Given the description of an element on the screen output the (x, y) to click on. 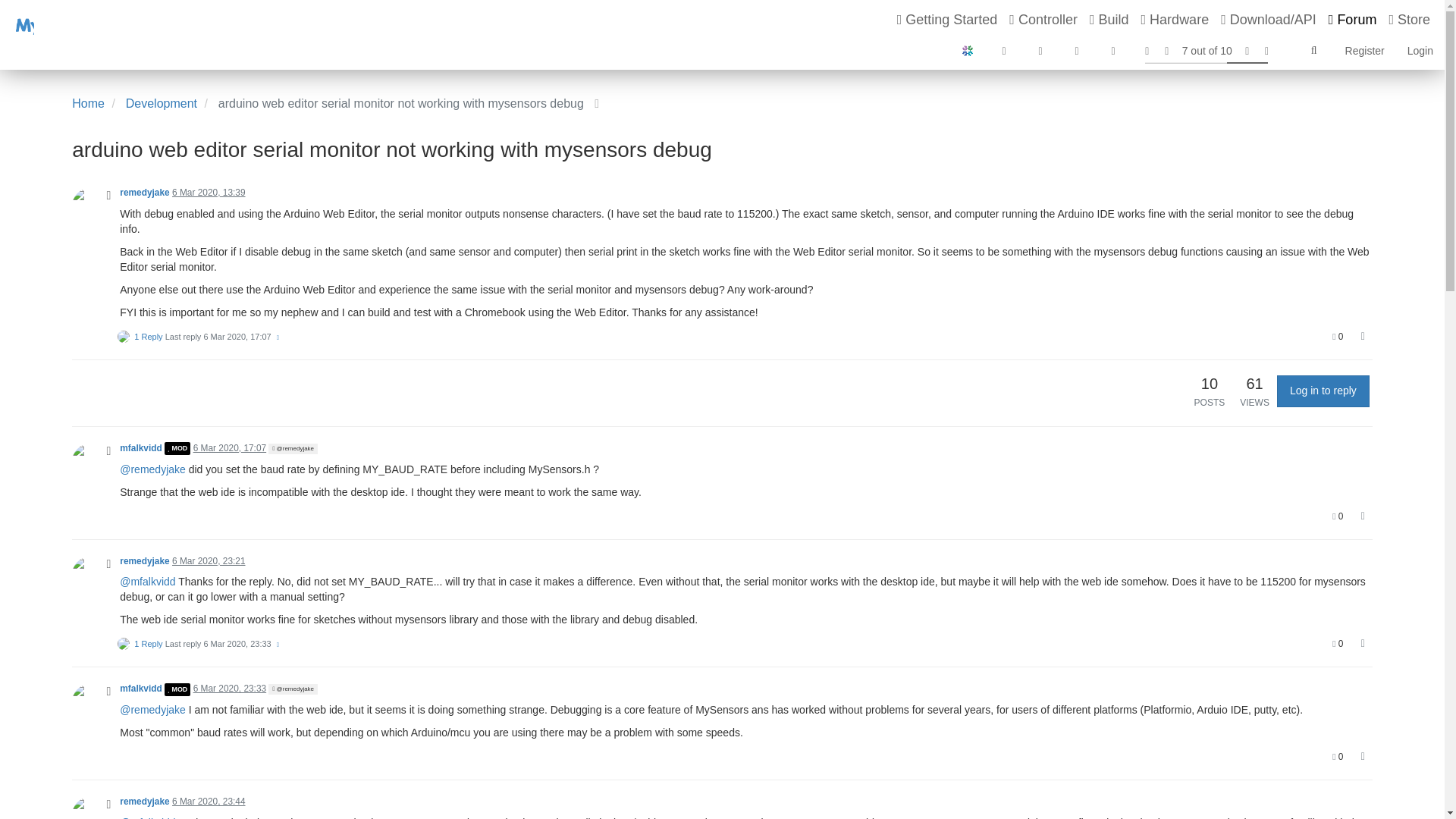
Log in to reply (1323, 391)
Home (87, 103)
61 (1254, 383)
Search (1313, 50)
6 Mar 2020, 17:07 (236, 336)
7 out of 10 (1206, 50)
Development (160, 103)
MOD (177, 448)
remedyjake (143, 192)
10 (1209, 383)
